Given the description of an element on the screen output the (x, y) to click on. 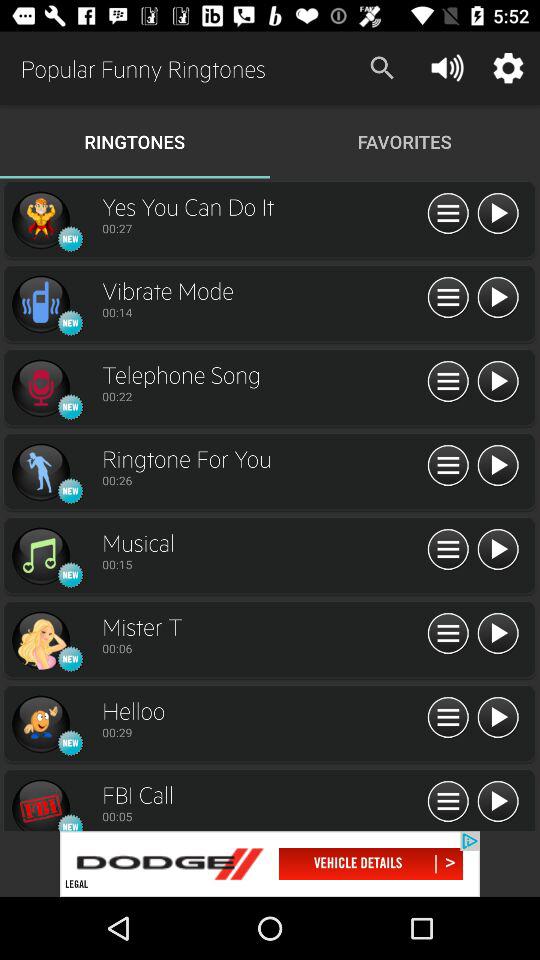
expand item (447, 465)
